Given the description of an element on the screen output the (x, y) to click on. 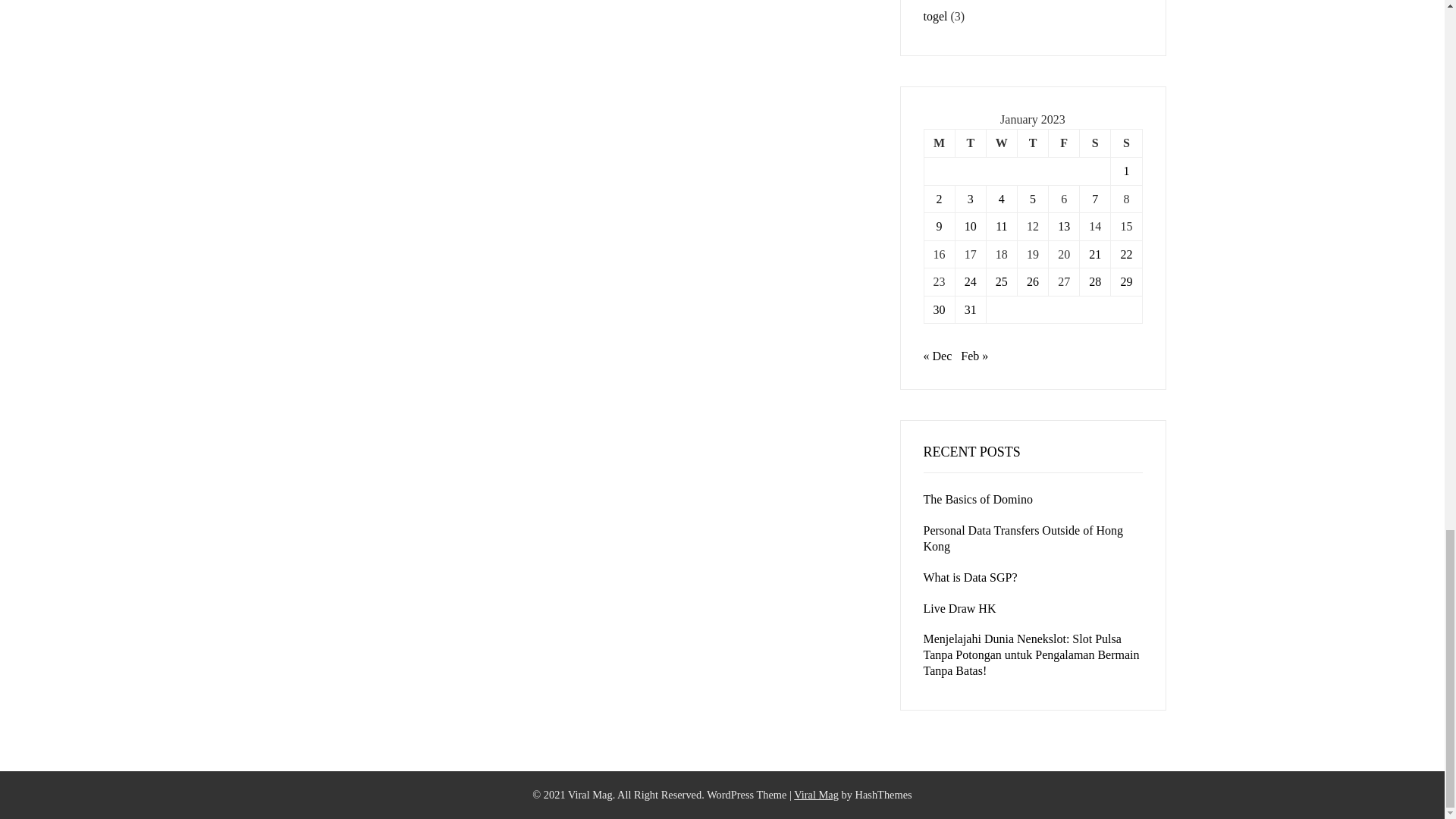
Wednesday (1000, 143)
Friday (1064, 143)
Saturday (1095, 143)
Tuesday (970, 143)
Sunday (1125, 143)
Thursday (1032, 143)
Download Viral News (815, 794)
Monday (939, 143)
